Given the description of an element on the screen output the (x, y) to click on. 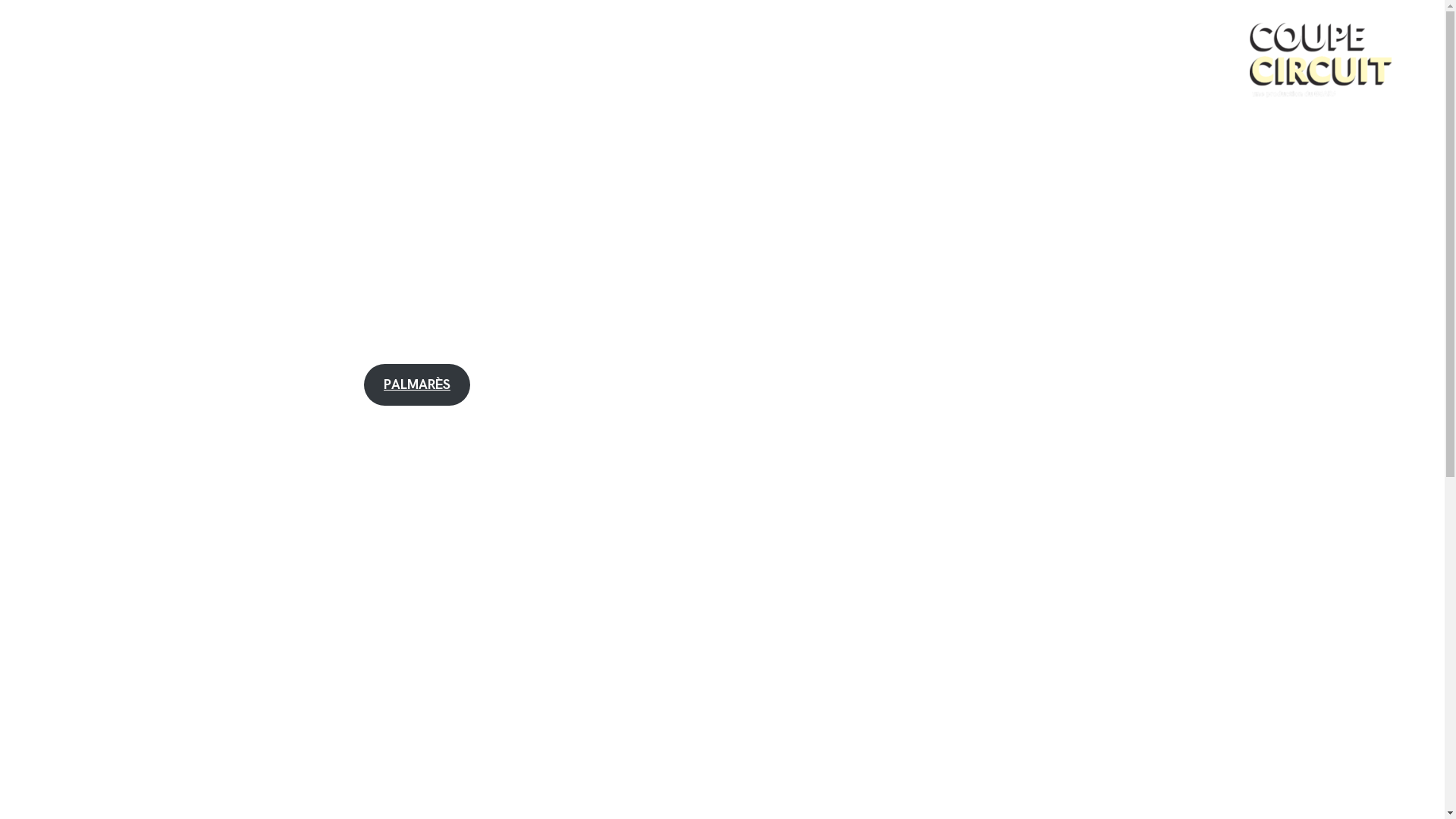
Accueil Element type: text (72, 39)
Jurys/Prix Element type: text (185, 39)
SEARCH Element type: text (1382, 271)
Skip to content Element type: text (52, 29)
Comment voter ? Element type: text (392, 39)
Quel futur ?
8 Element type: text (1333, 190)
Interagir Element type: text (503, 39)
